Given the description of an element on the screen output the (x, y) to click on. 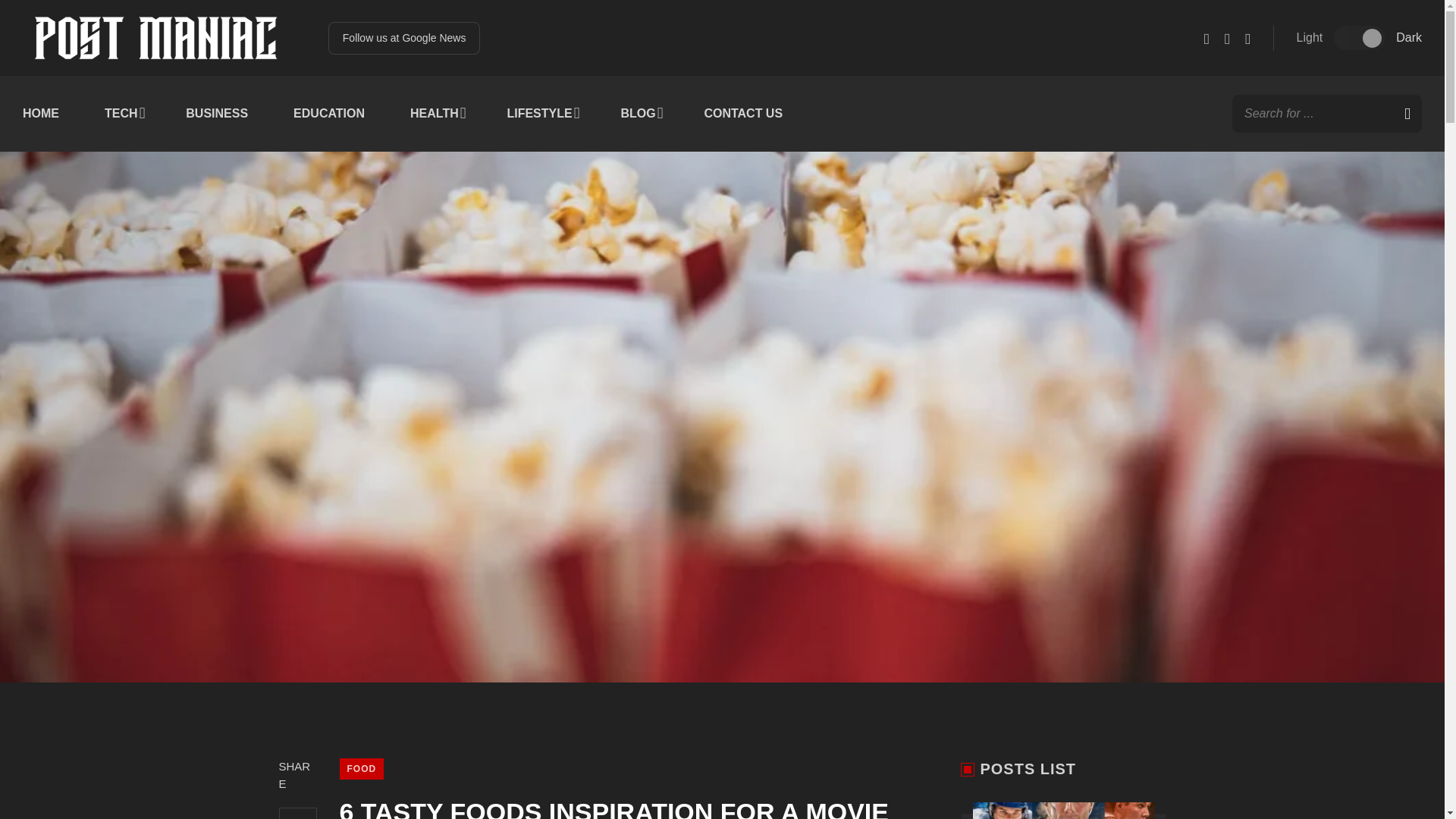
Follow us at Google News (404, 37)
LIFESTYLE (540, 113)
FOOD (361, 768)
CONTACT US (743, 113)
Share on Facebook (298, 813)
EDUCATION (329, 113)
